Given the description of an element on the screen output the (x, y) to click on. 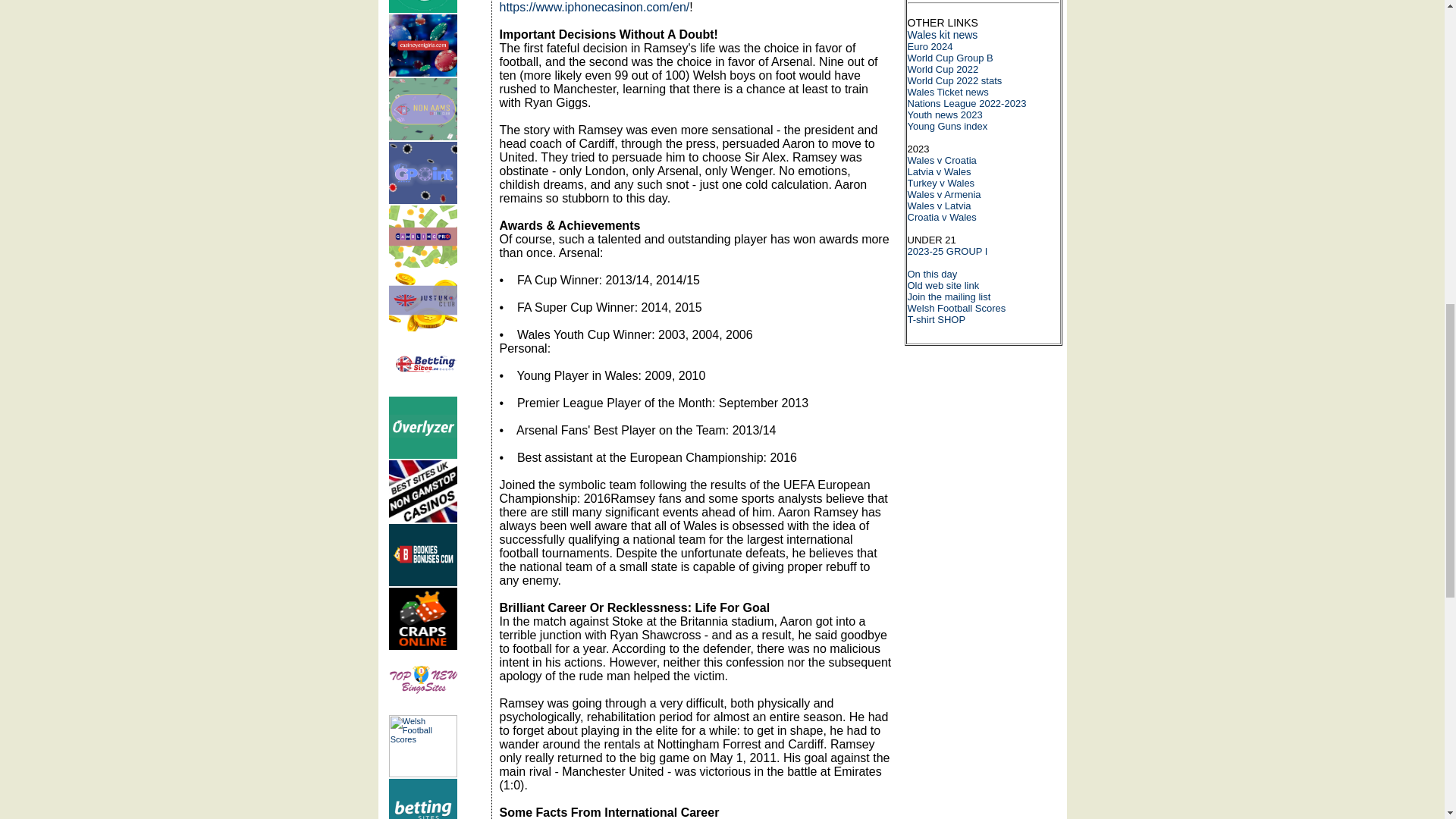
Welsh Football Scores (422, 745)
Best New Bingo sites (422, 682)
